Given the description of an element on the screen output the (x, y) to click on. 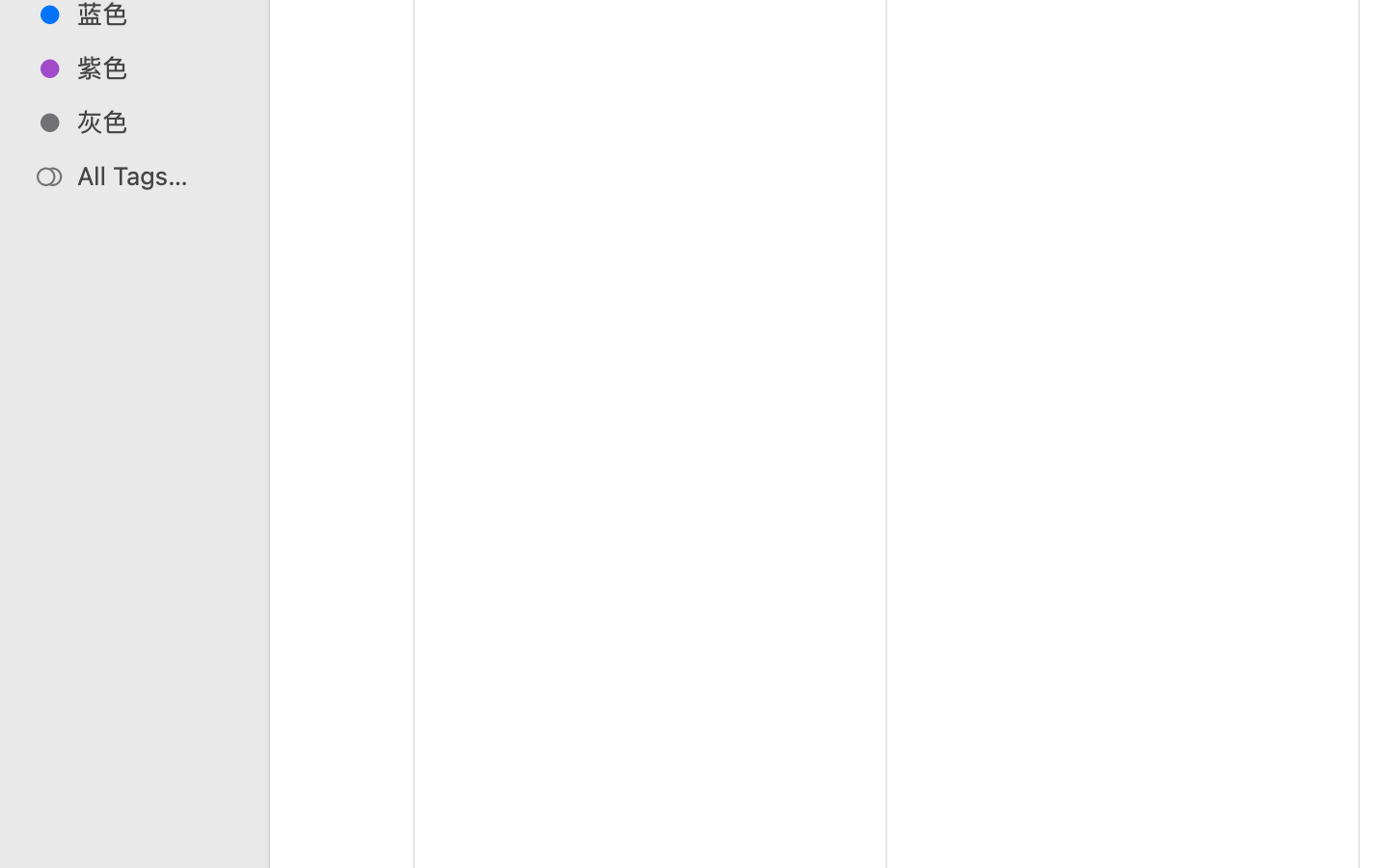
灰色 Element type: AXStaticText (155, 121)
0 Element type: AXRadioButton (23, 846)
Tags… Element type: AXStaticText (41, 852)
All Tags… Element type: AXStaticText (155, 175)
finder Element type: AXStaticText (875, 786)
